Given the description of an element on the screen output the (x, y) to click on. 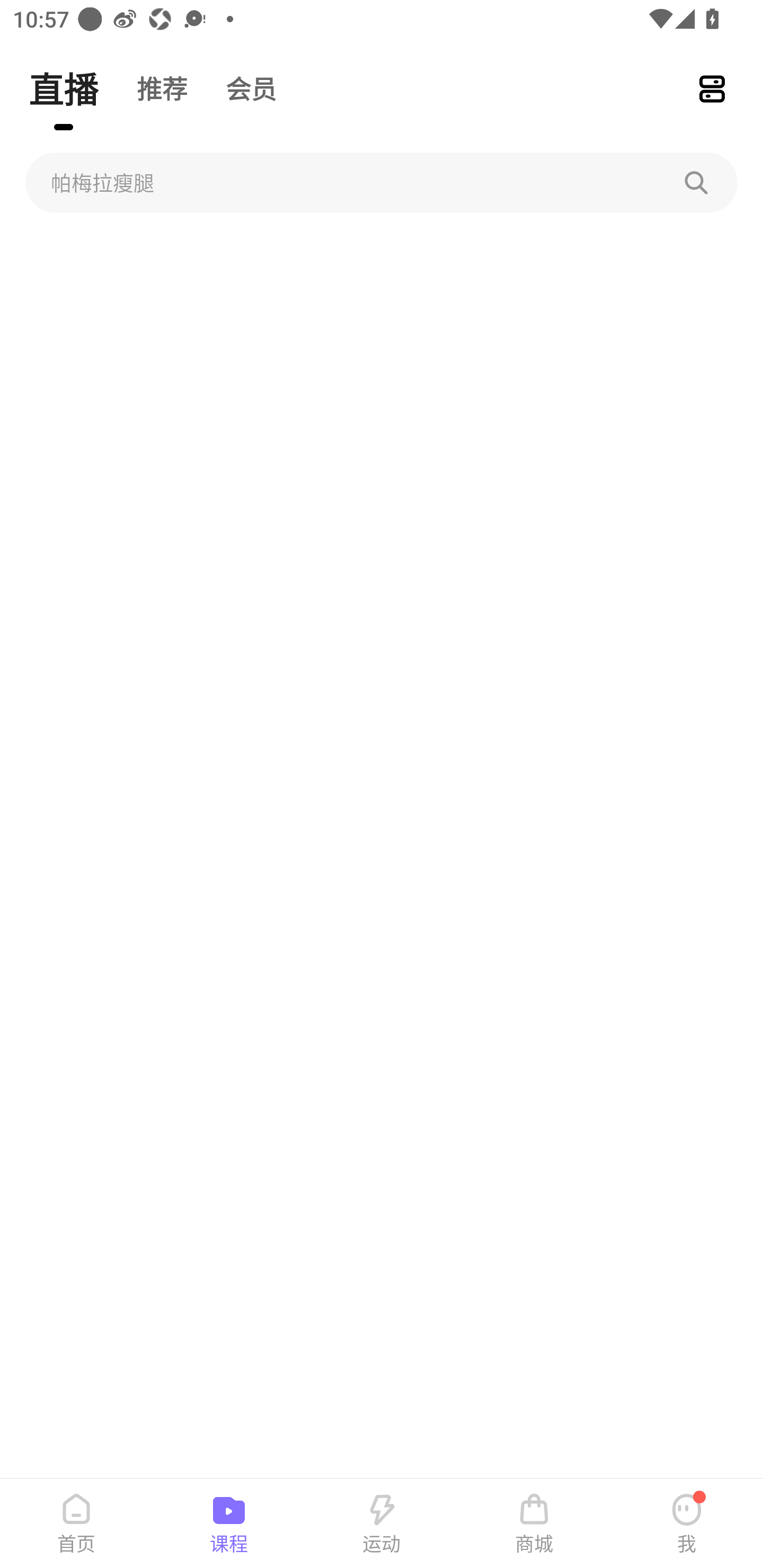
直播 (63, 88)
推荐 (161, 88)
会员 (251, 88)
帕梅拉瘦腿 (381, 182)
首页 (76, 1523)
课程 (228, 1523)
运动 (381, 1523)
商城 (533, 1523)
我 (686, 1523)
